Given the description of an element on the screen output the (x, y) to click on. 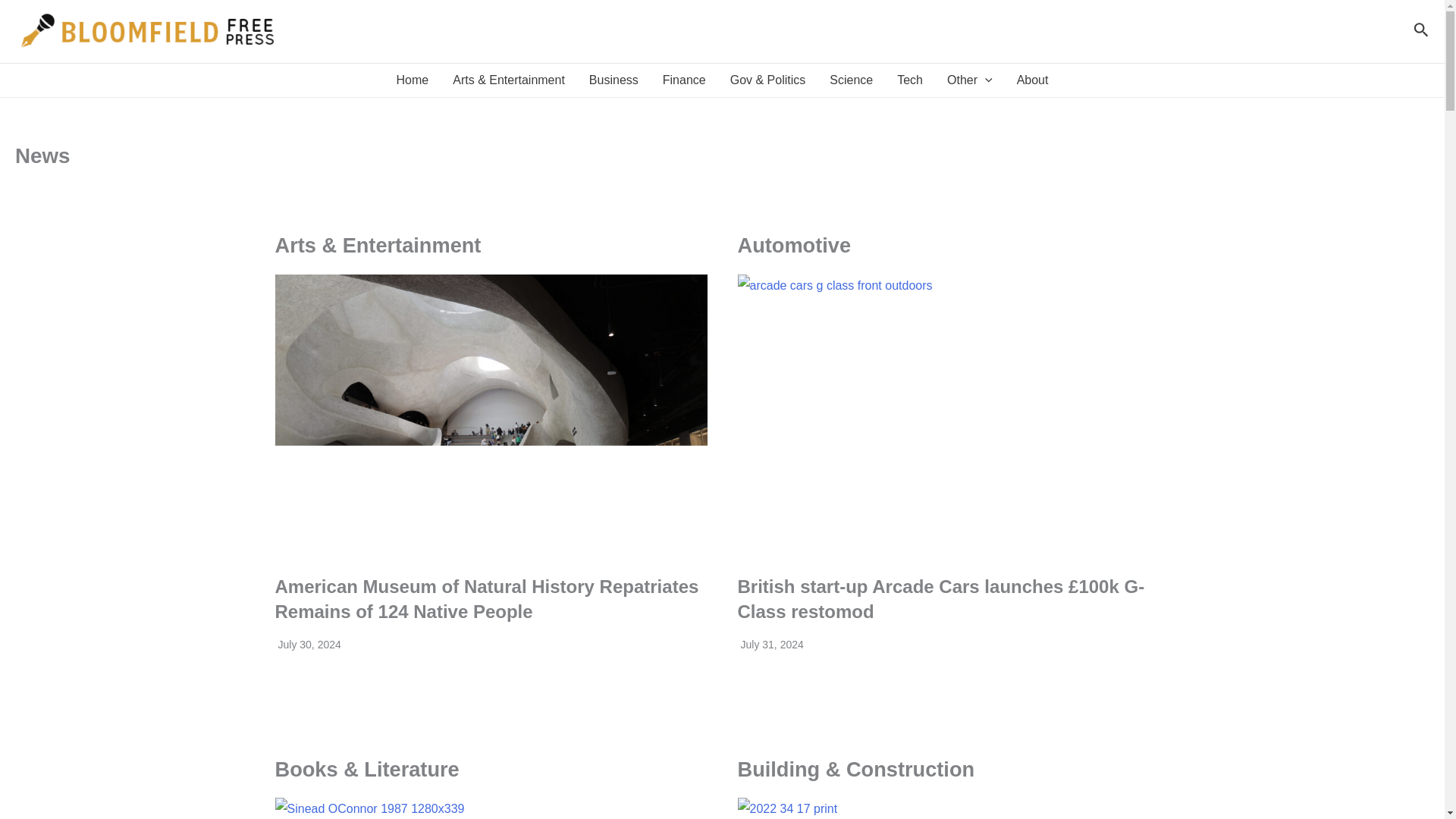
Science (850, 80)
About (1032, 80)
Business (613, 80)
Finance (683, 80)
Home (412, 80)
Tech (909, 80)
Other (969, 80)
